Given the description of an element on the screen output the (x, y) to click on. 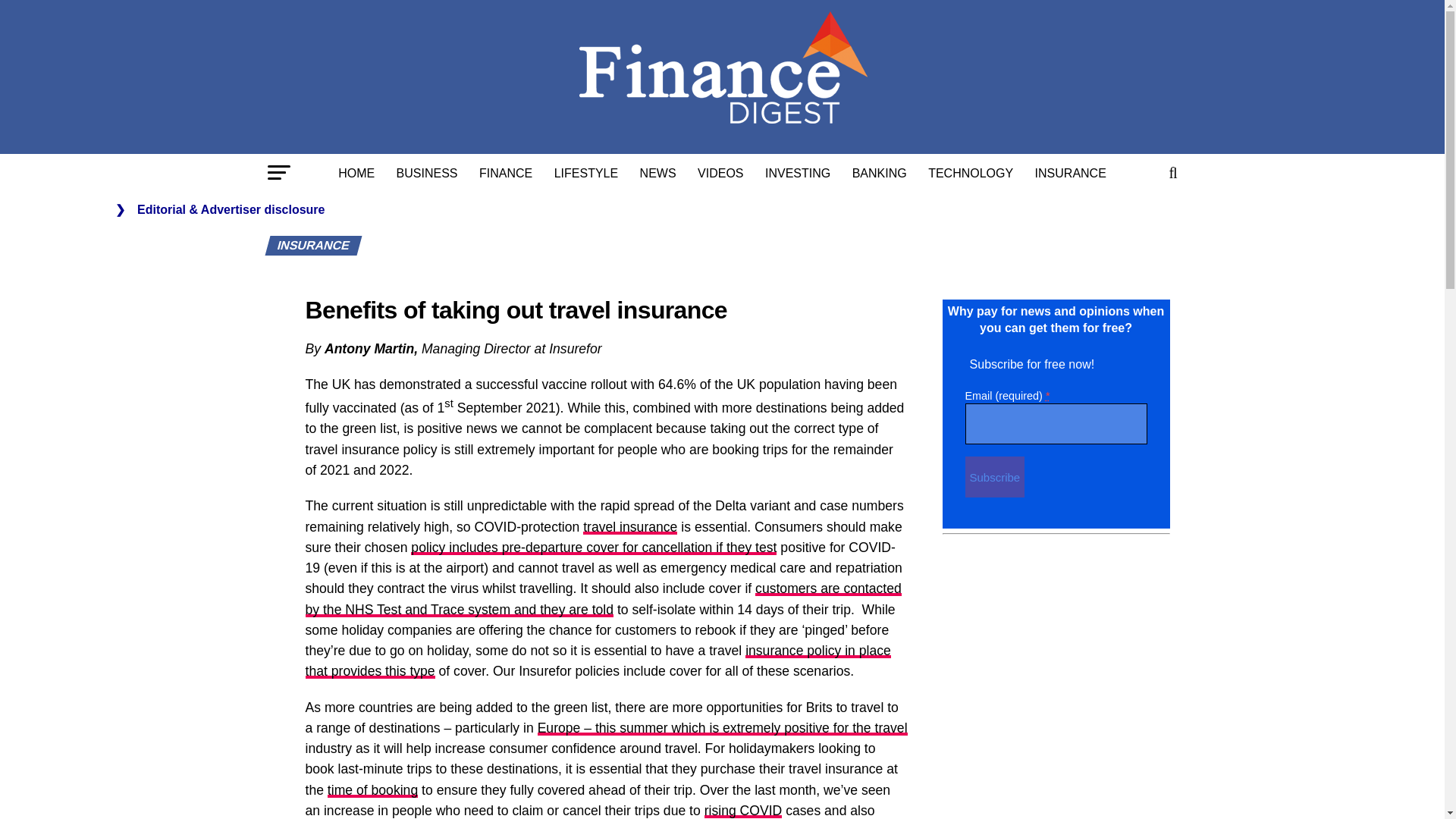
Lifestyle (585, 173)
LIFESTYLE (585, 173)
Subscribe (994, 476)
Business (427, 173)
Home (356, 173)
Finance (505, 173)
BUSINESS (427, 173)
VIDEOS (720, 173)
NEWS (657, 173)
HOME (356, 173)
